Given the description of an element on the screen output the (x, y) to click on. 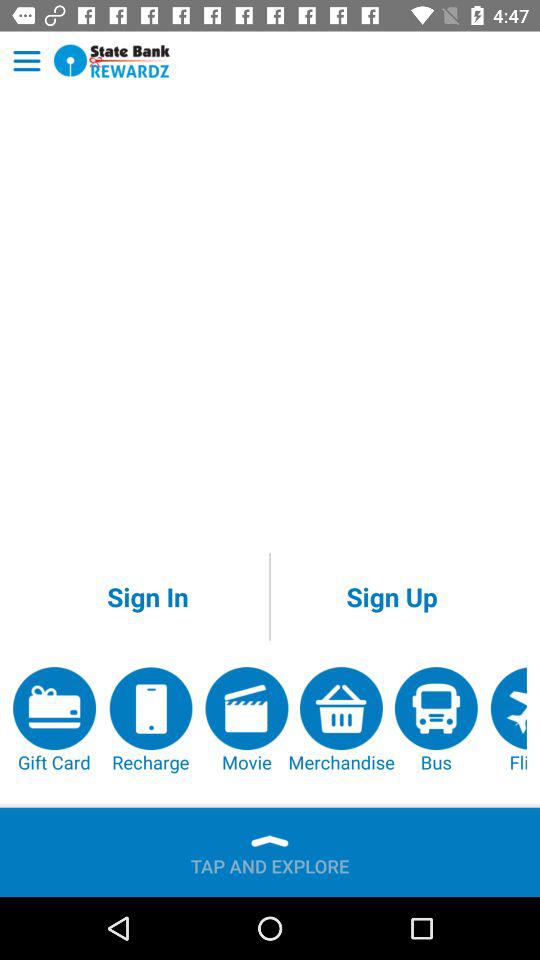
this bank name (112, 60)
